Given the description of an element on the screen output the (x, y) to click on. 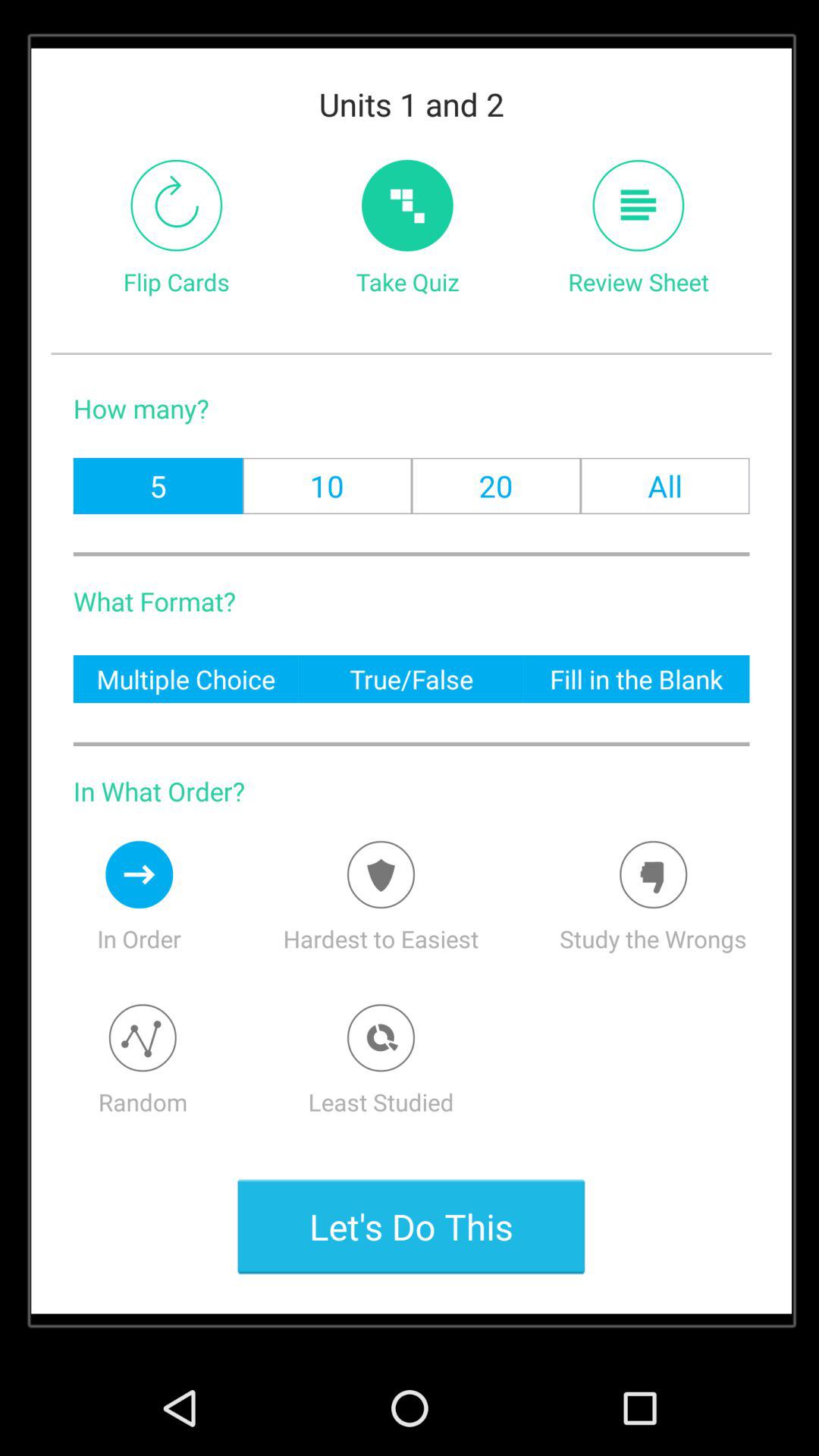
jack the paper (638, 205)
